Given the description of an element on the screen output the (x, y) to click on. 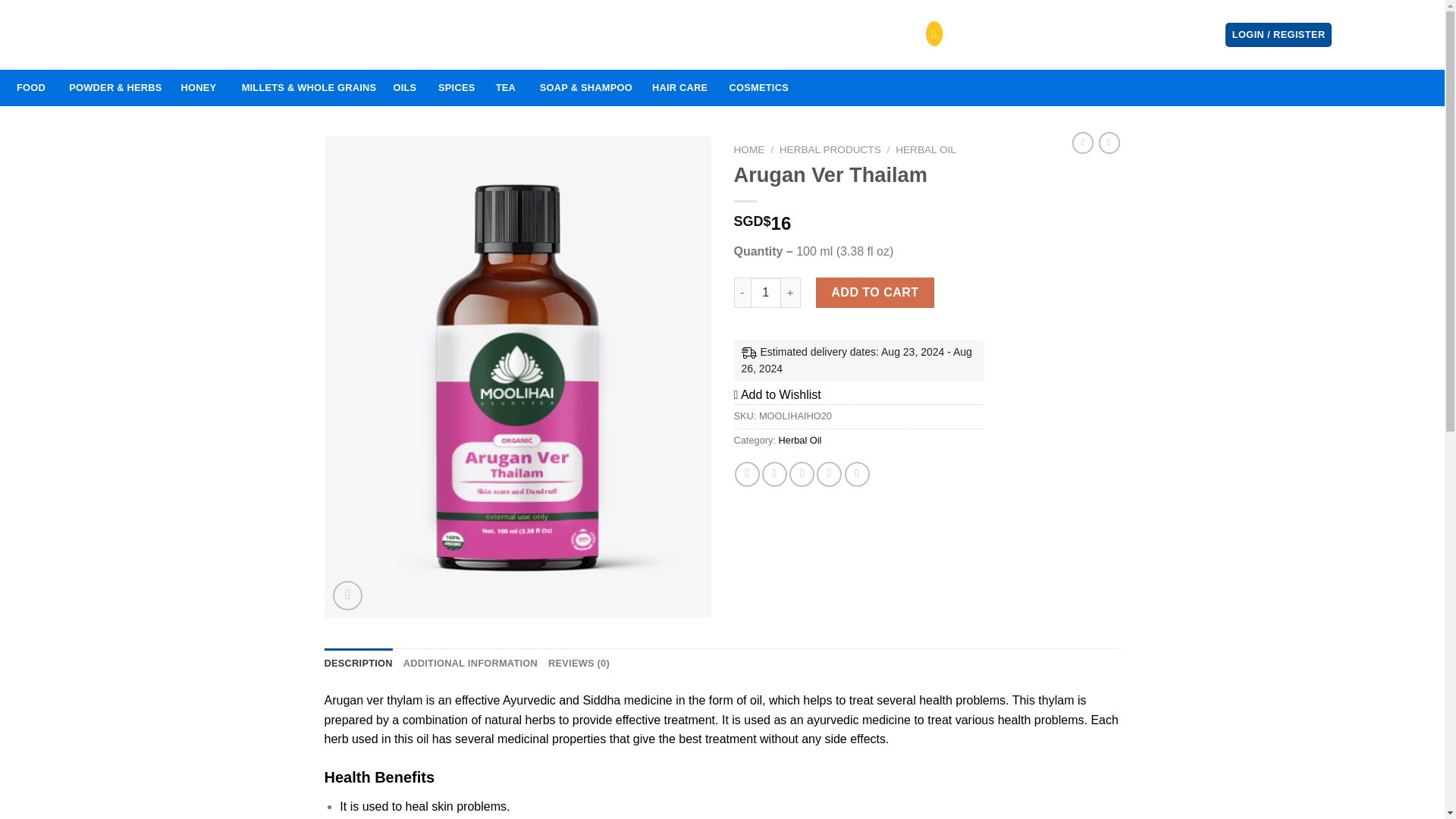
FOOD (30, 87)
COSMETICS (758, 87)
Add to Wishlist (777, 394)
SPICES (456, 87)
Cart (1390, 34)
HAIR CARE (680, 87)
Email to a Friend (801, 473)
Track Order (338, 34)
HERBAL OIL (925, 149)
Pin on Pinterest (828, 473)
